Given the description of an element on the screen output the (x, y) to click on. 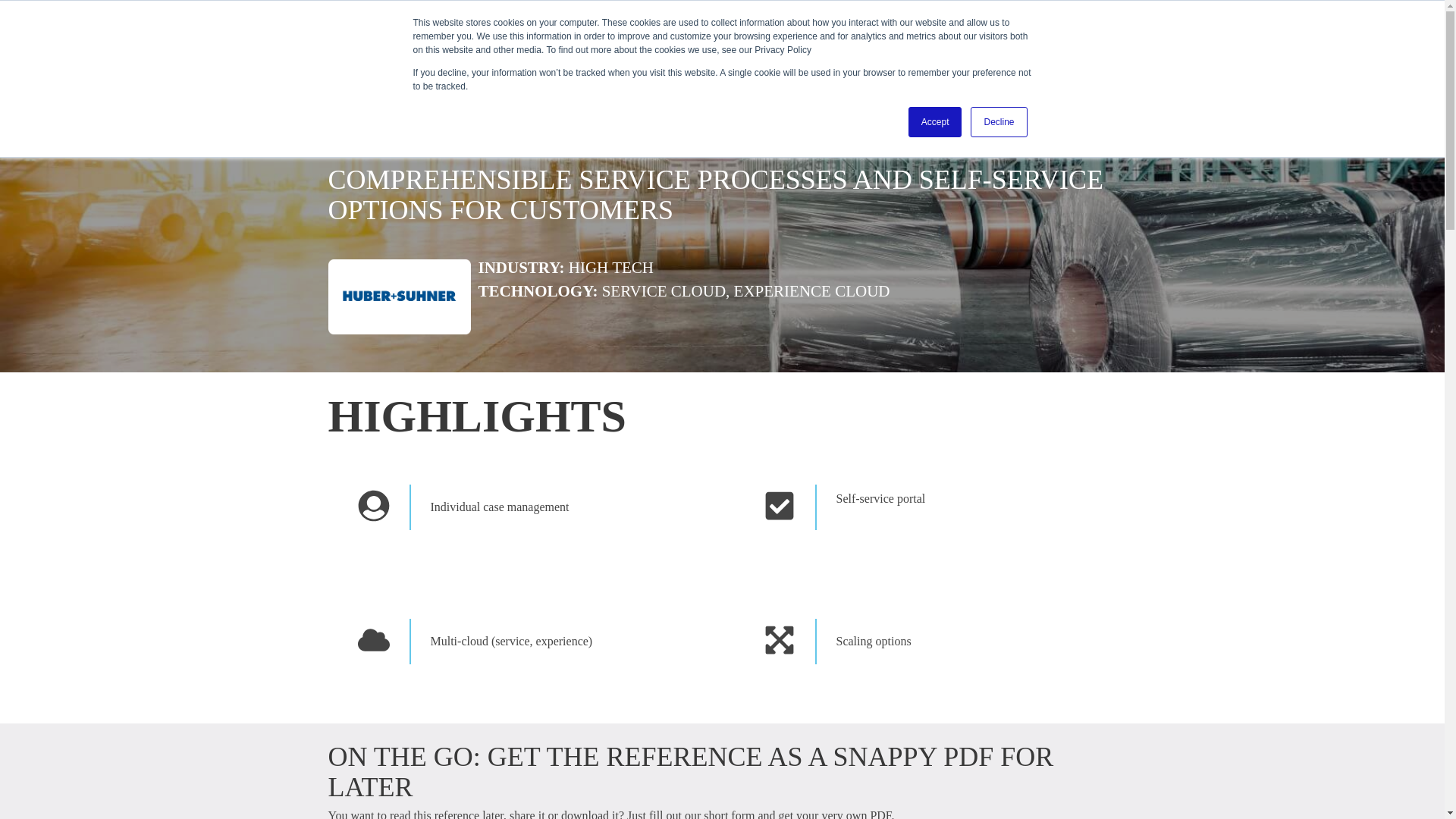
Accept (935, 122)
Decline (998, 122)
